Given the description of an element on the screen output the (x, y) to click on. 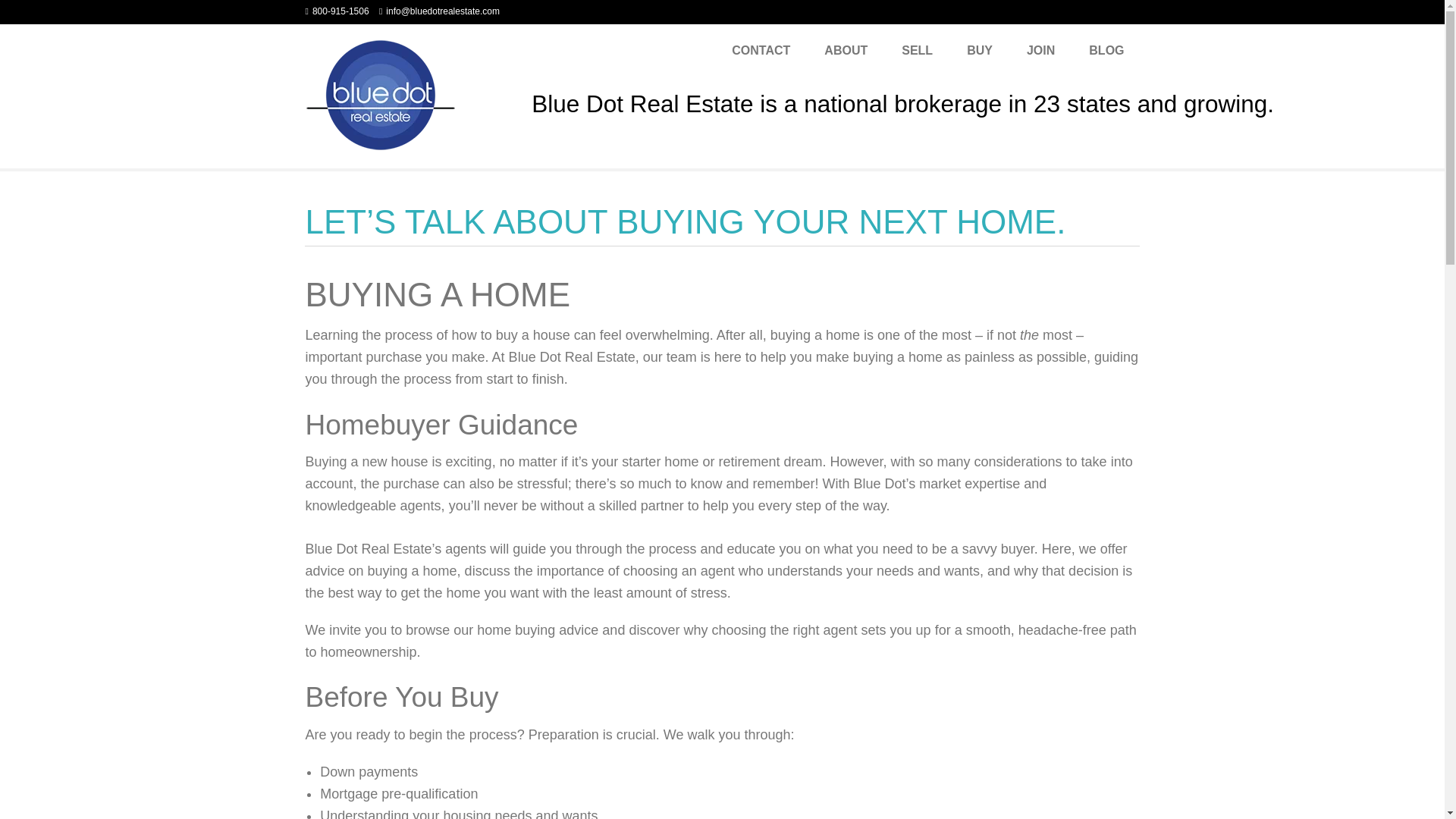
800-915-1506 (341, 10)
CONTACT (760, 50)
Blue Dot Real Estate (380, 92)
BUY (979, 50)
JOIN (1040, 50)
ABOUT (845, 50)
SELL (916, 50)
BLOG (1106, 50)
